Given the description of an element on the screen output the (x, y) to click on. 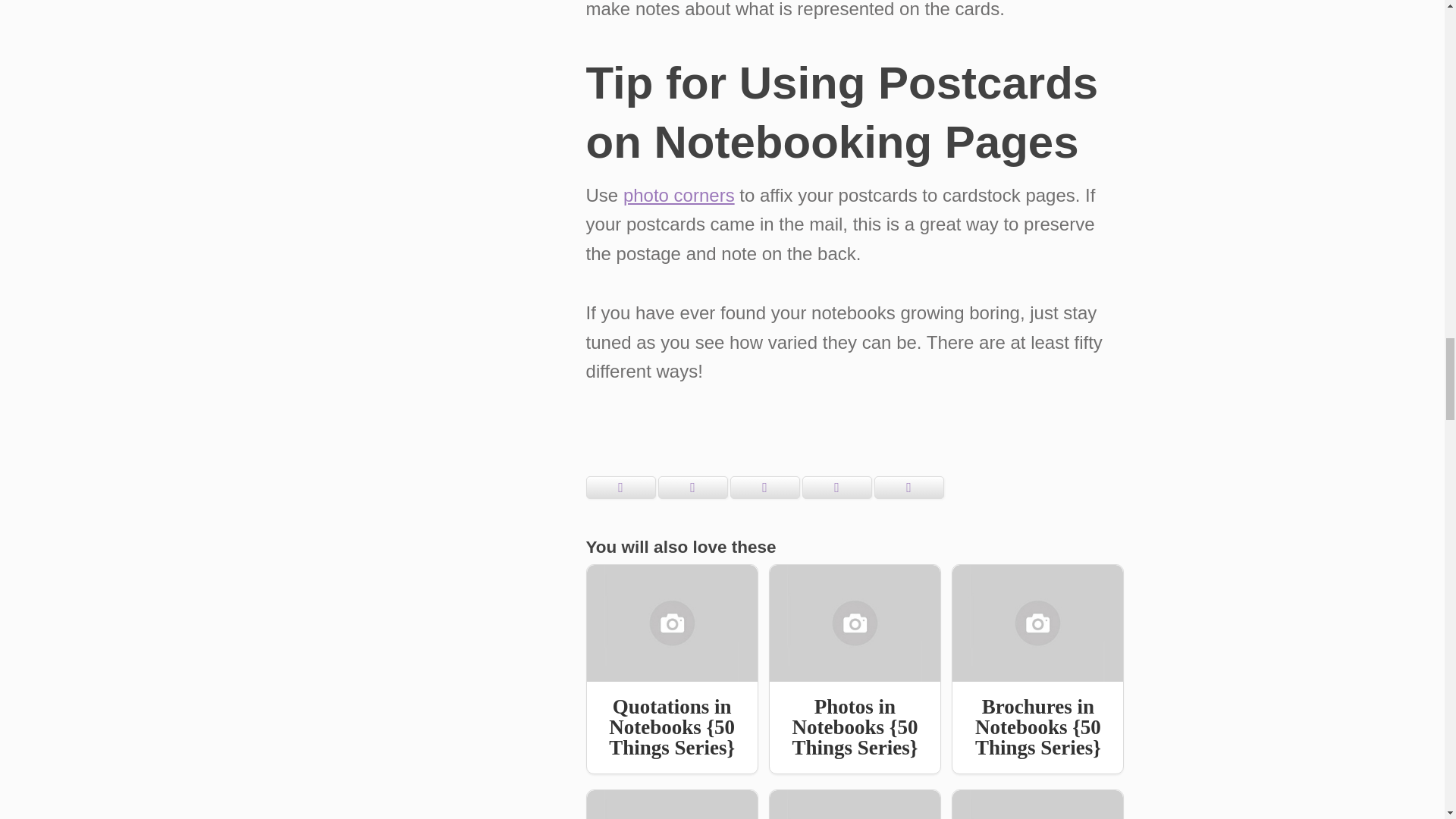
Using Photo Corners in Notebooking (679, 195)
